Given the description of an element on the screen output the (x, y) to click on. 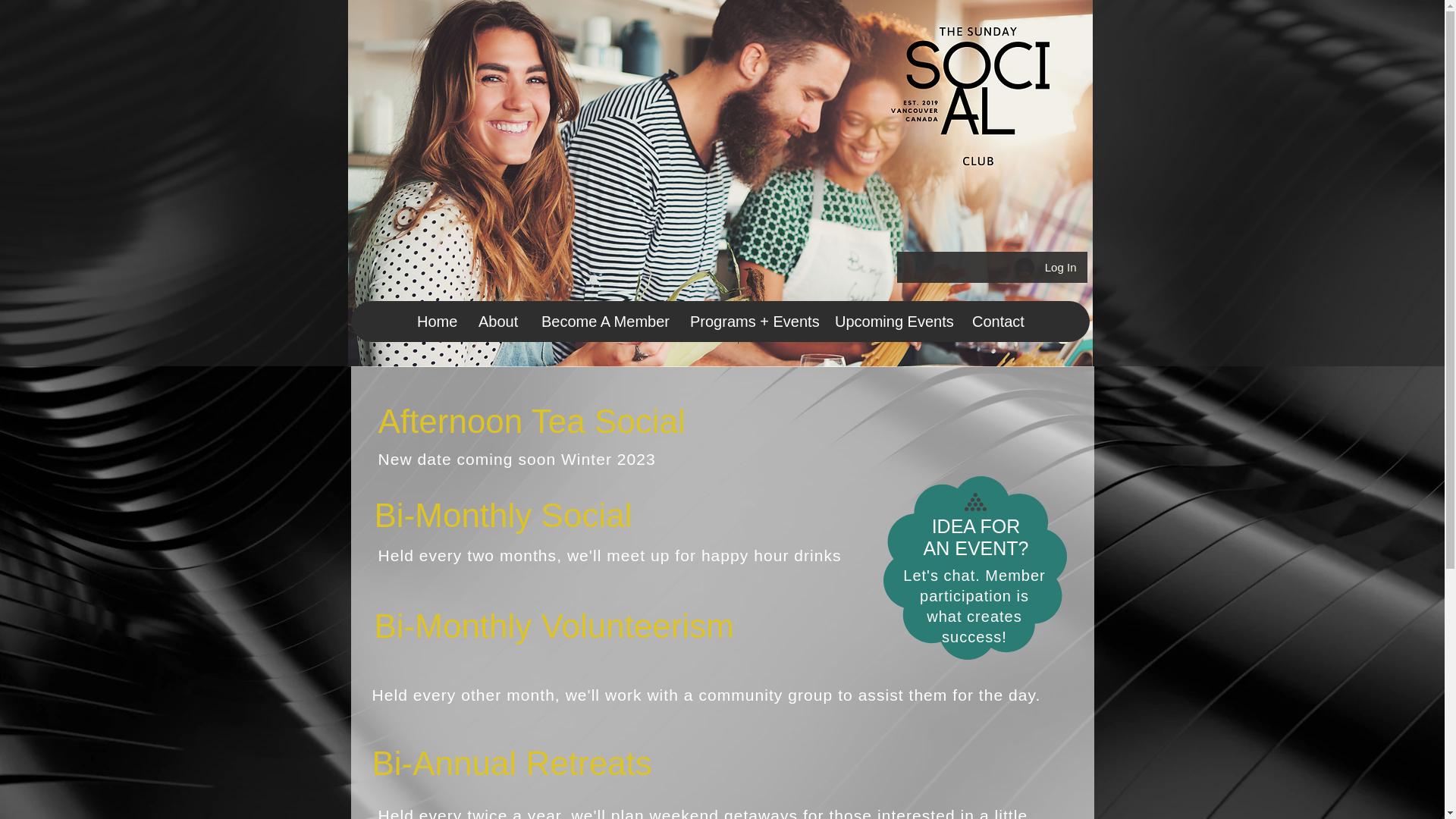
Home (434, 321)
Upcoming Events (890, 321)
Log In (1045, 267)
Contact (997, 321)
Become A Member (603, 321)
About (497, 321)
